Given the description of an element on the screen output the (x, y) to click on. 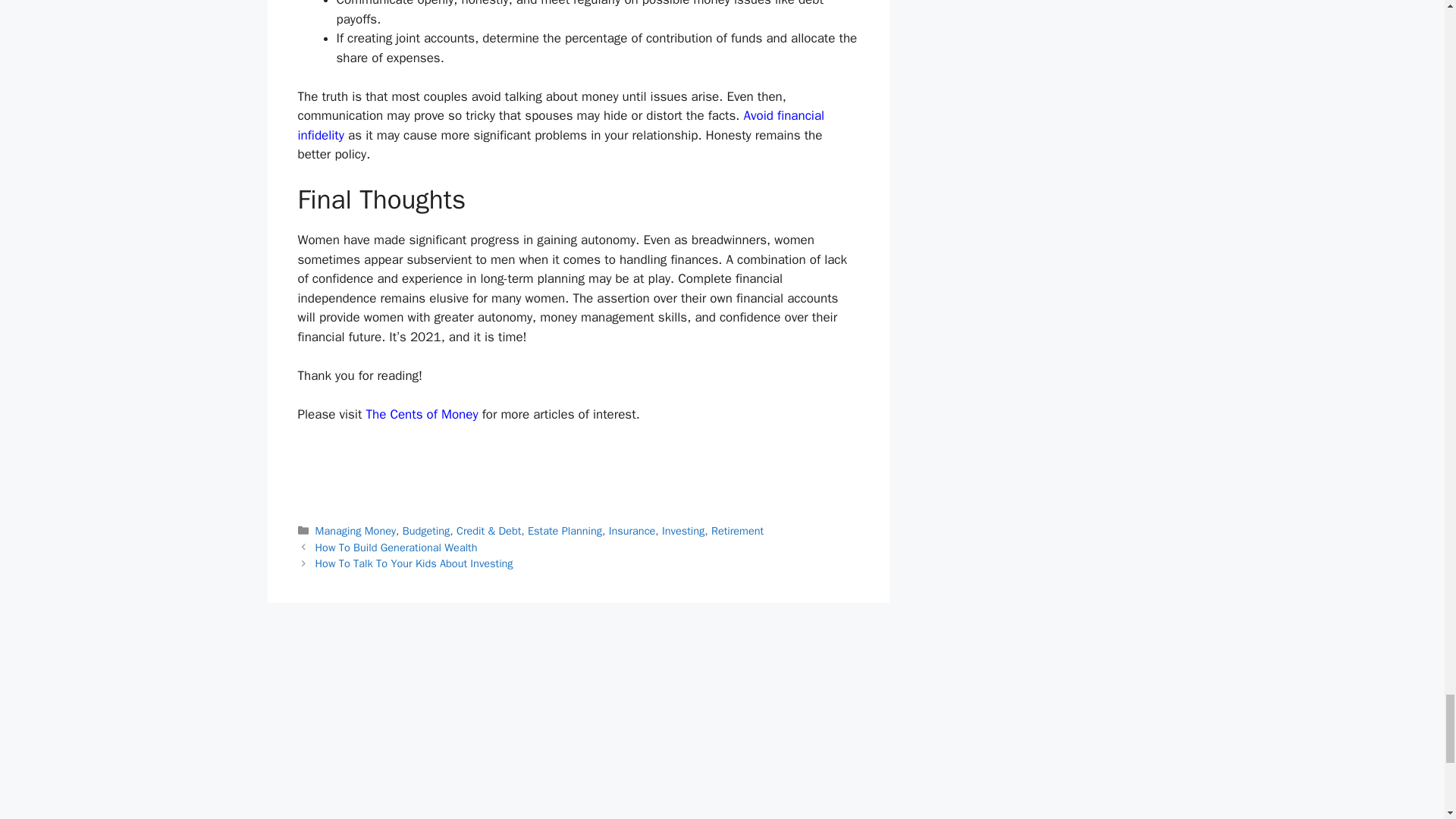
Next (414, 563)
Previous (396, 547)
